Given the description of an element on the screen output the (x, y) to click on. 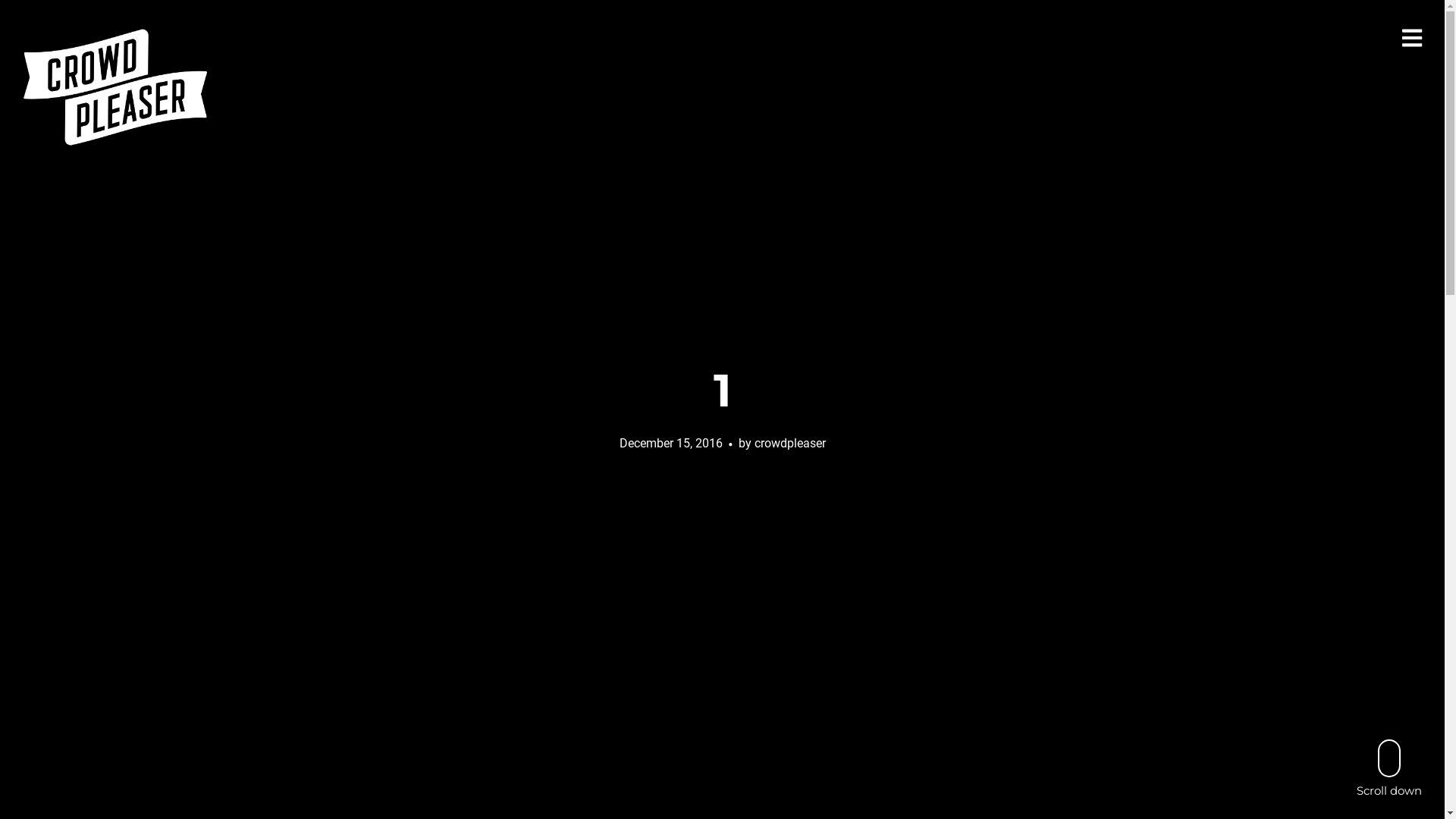
December 15, 2016 Element type: text (669, 442)
Home Element type: hover (114, 86)
crowdpleaser Element type: text (789, 442)
Scroll down Element type: text (1388, 767)
